Given the description of an element on the screen output the (x, y) to click on. 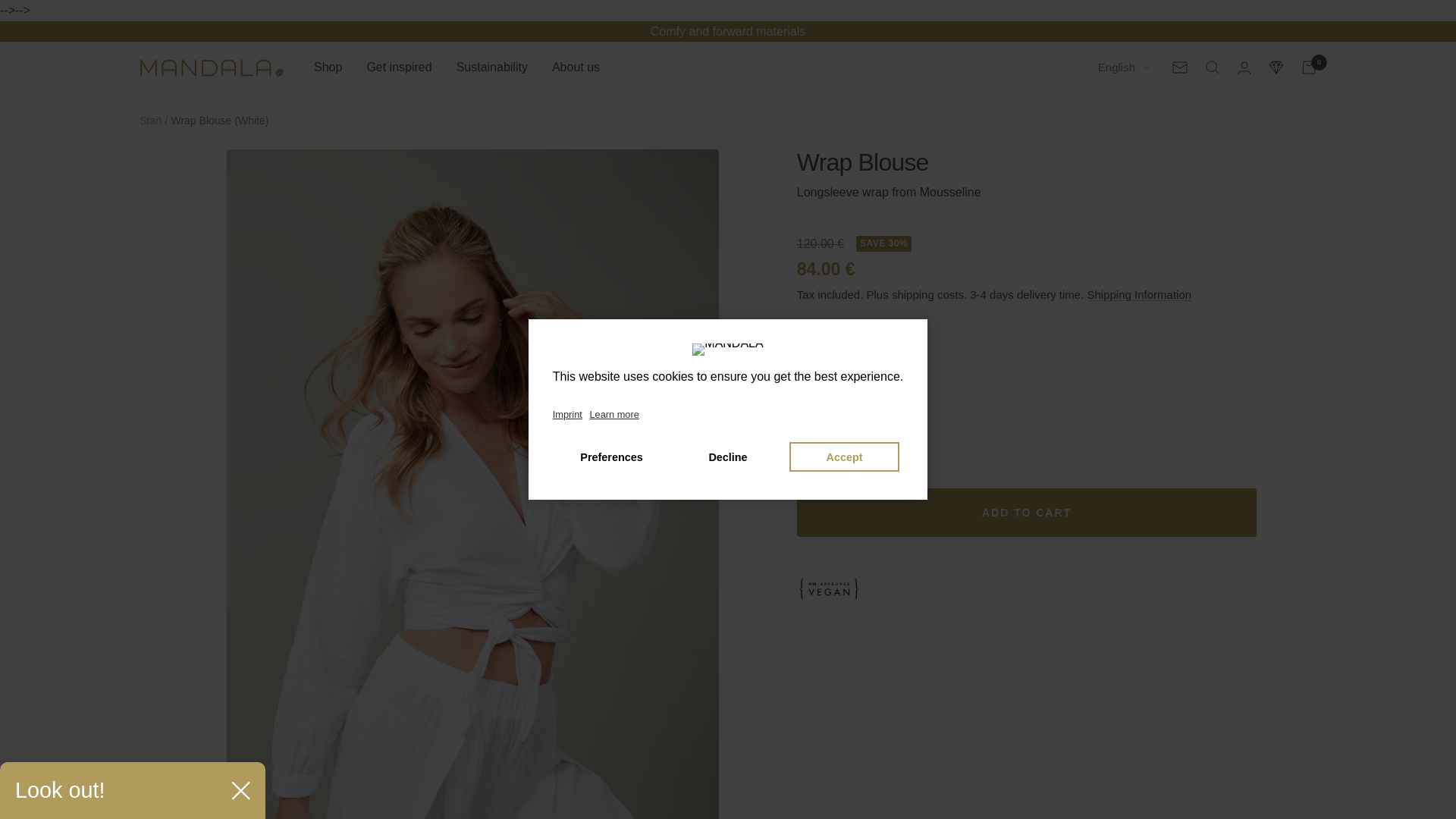
Accept (844, 457)
MANDALA (211, 67)
Newsletter (1180, 67)
Imprint (569, 414)
de (1114, 120)
0 (1308, 67)
English (1123, 66)
Sustainability (492, 66)
